Given the description of an element on the screen output the (x, y) to click on. 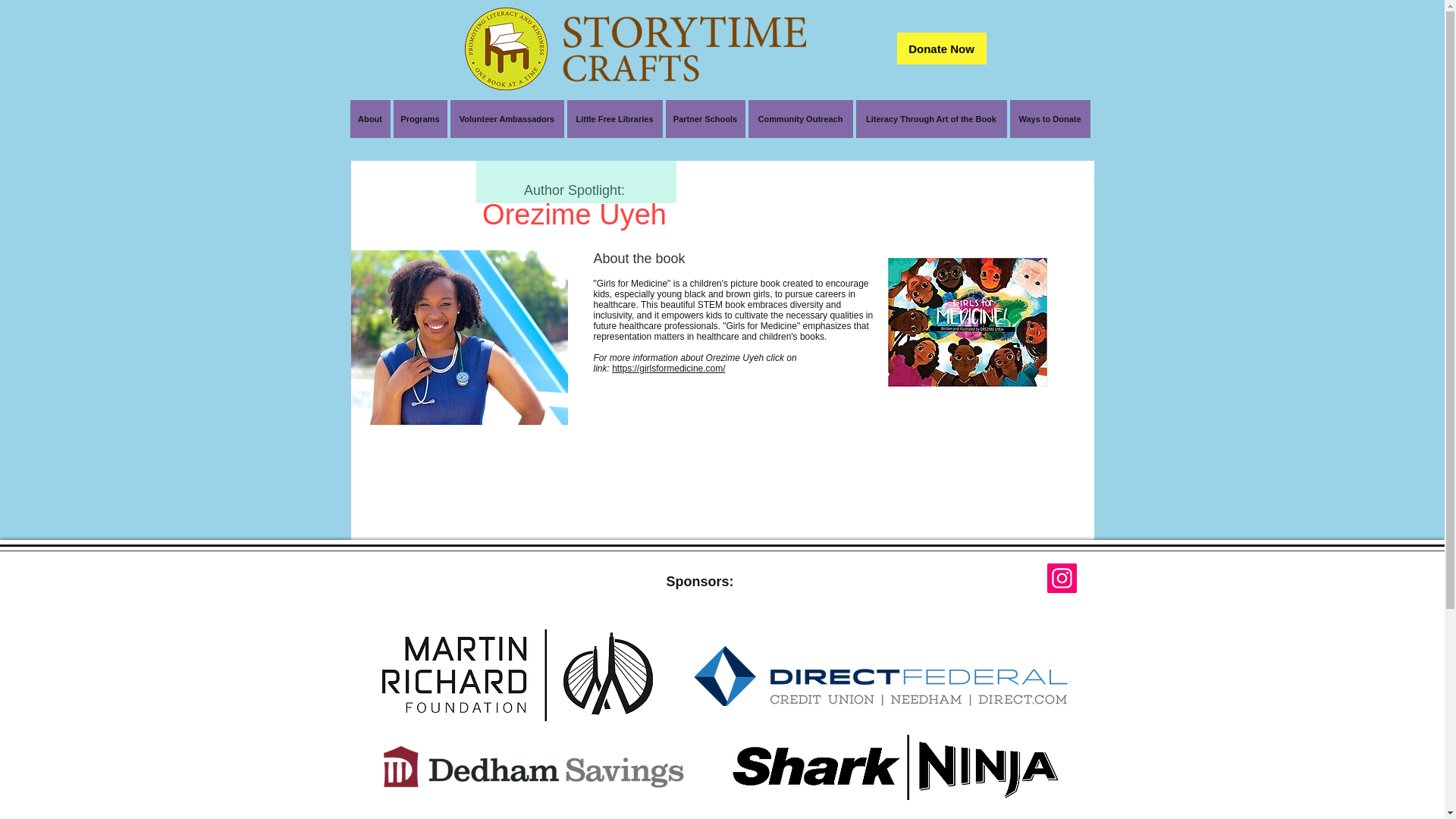
Little Free Libraries (614, 118)
About (370, 118)
Volunteer Ambassadors (506, 118)
Donate Now (940, 48)
Partner Schools (705, 118)
Programs (419, 118)
